Given the description of an element on the screen output the (x, y) to click on. 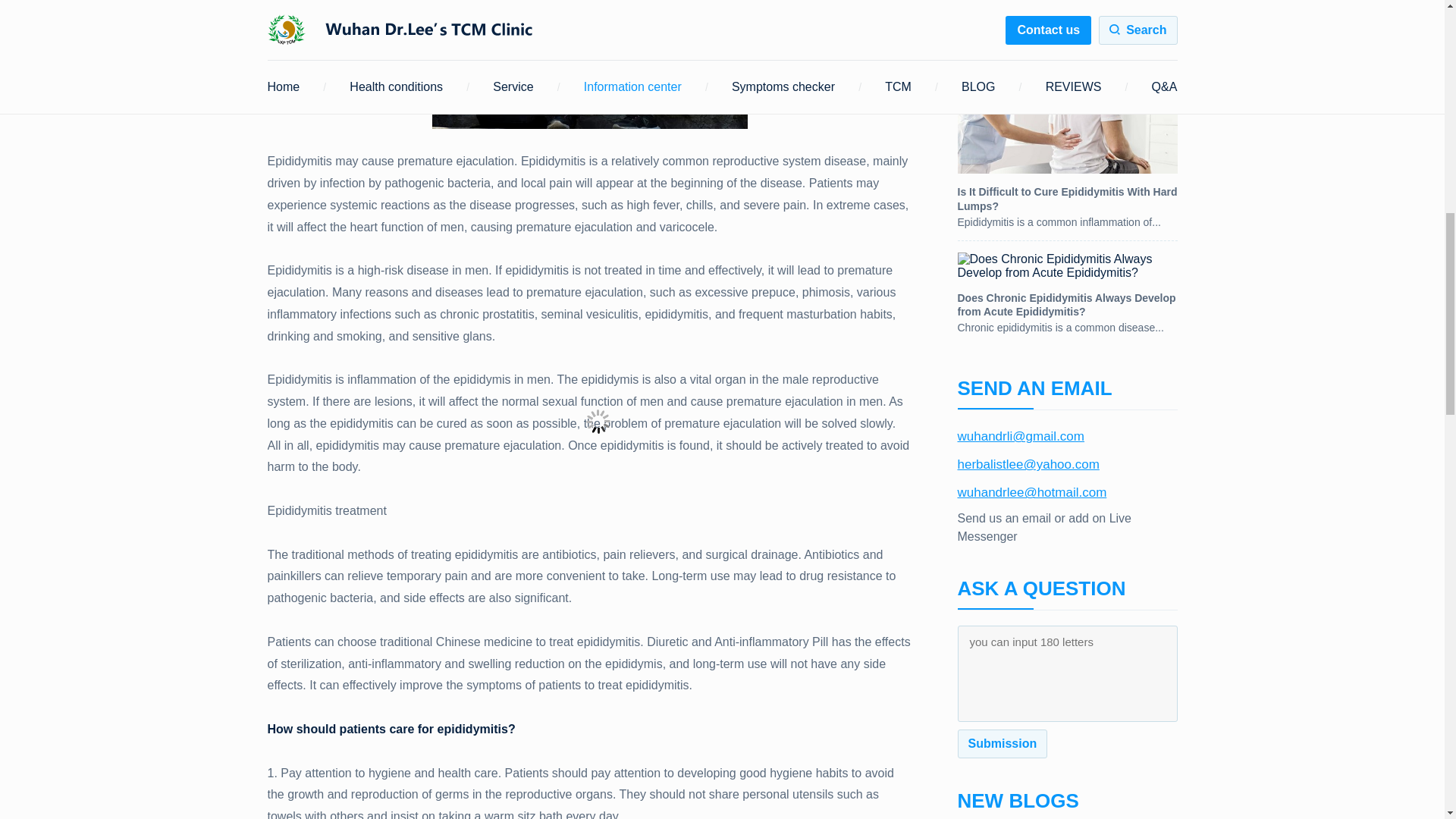
Submission (1001, 743)
Can Epididymitis Lead to Testicular Necrosis? (1066, 18)
Is It Difficult to Cure Epididymitis With Hard Lumps? (1066, 144)
